Given the description of an element on the screen output the (x, y) to click on. 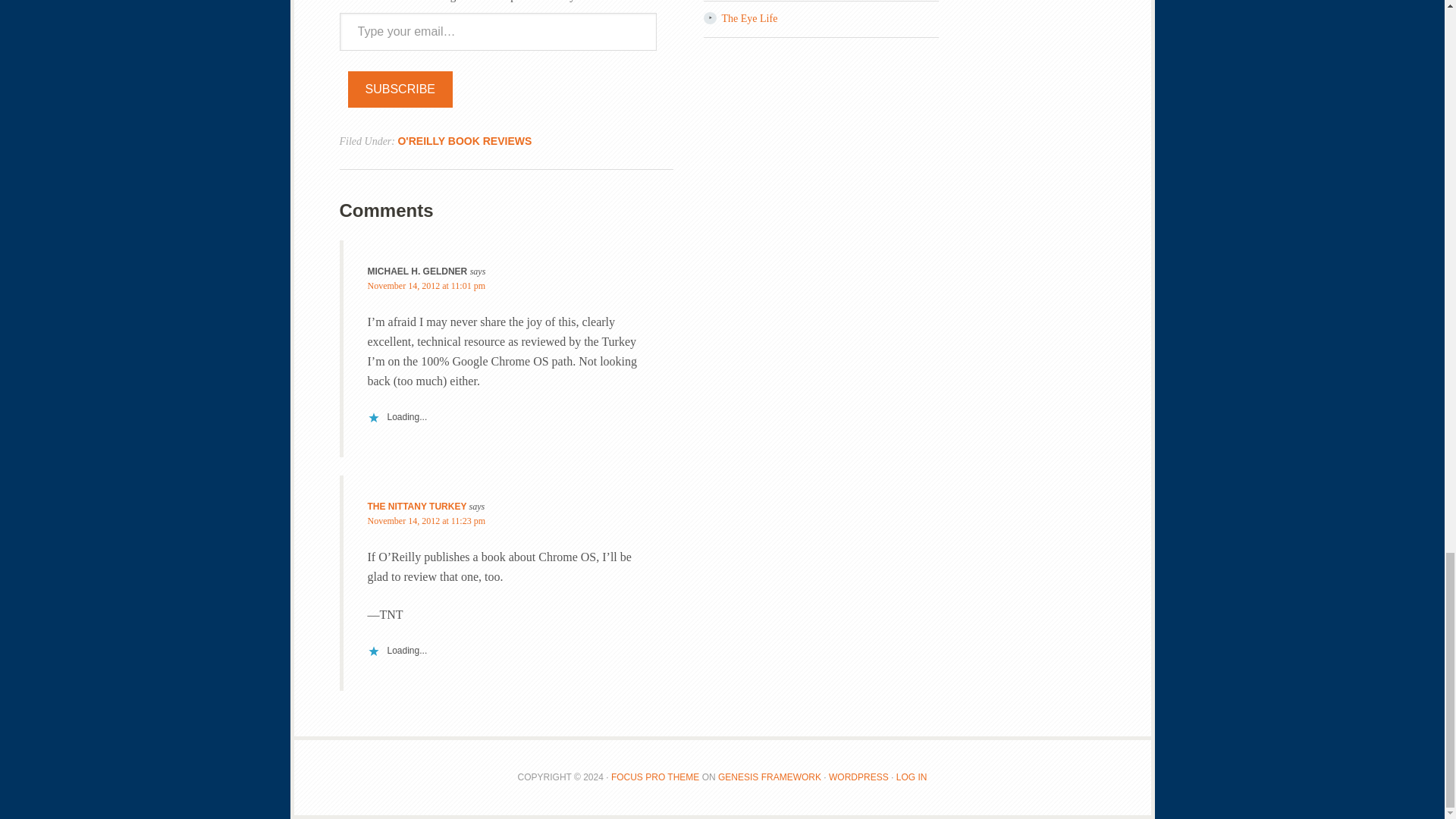
SUBSCRIBE (399, 89)
Please fill in this field. (497, 31)
O'REILLY BOOK REVIEWS (464, 141)
November 14, 2012 at 11:01 pm (425, 285)
THE NITTANY TURKEY (415, 506)
November 14, 2012 at 11:23 pm (425, 520)
